Given the description of an element on the screen output the (x, y) to click on. 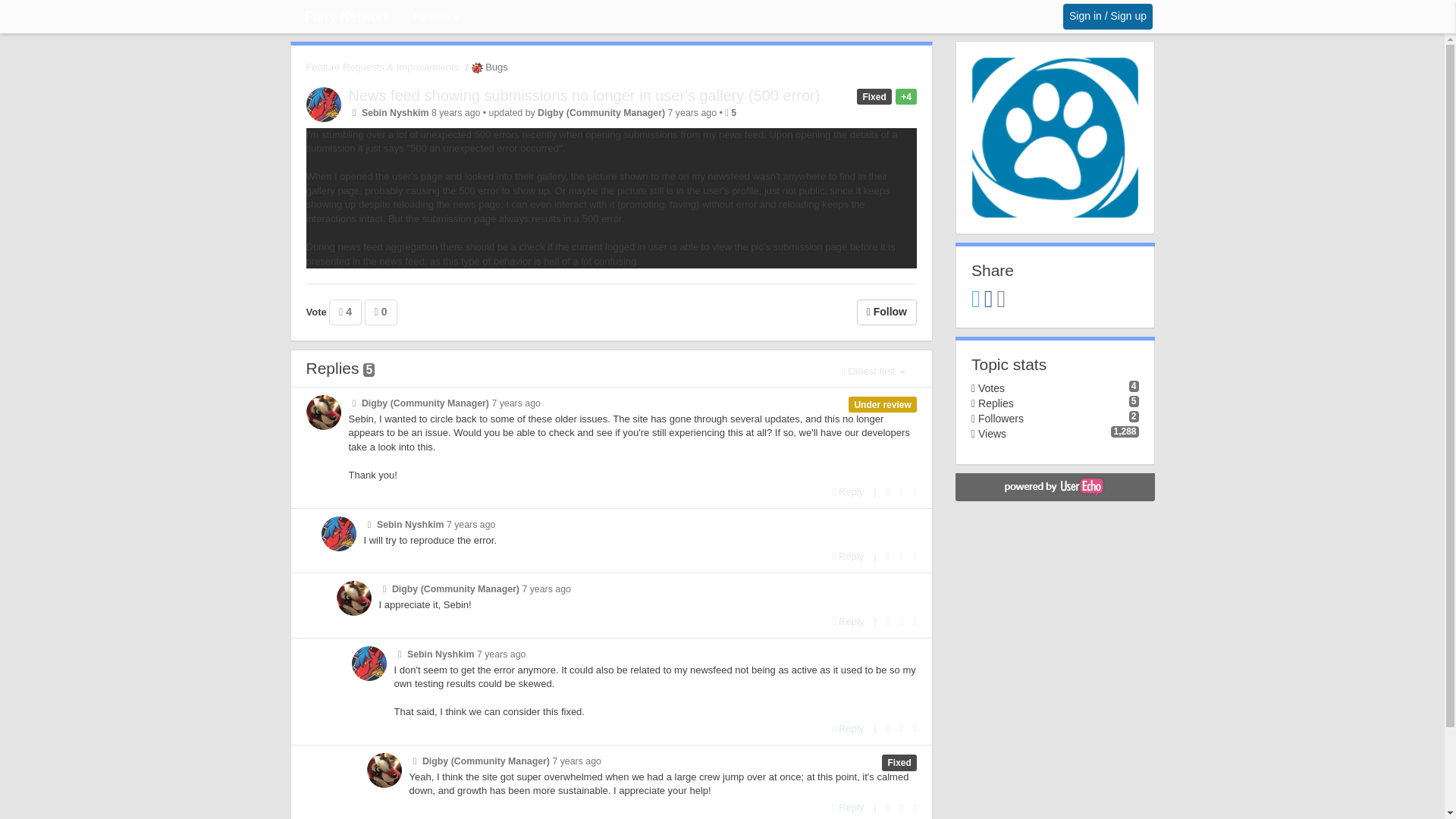
Sebin Nyshkim (395, 112)
Oldest first (873, 371)
Follow (887, 312)
4 (345, 312)
Forums (433, 17)
Sebin Nyshkim (410, 524)
7 years ago (545, 588)
Reply (848, 555)
Bugs (487, 66)
Reply (848, 621)
7 years ago (516, 403)
Reply (848, 491)
Furry Network (342, 16)
Sebin Nyshkim (440, 654)
7 years ago (501, 654)
